Given the description of an element on the screen output the (x, y) to click on. 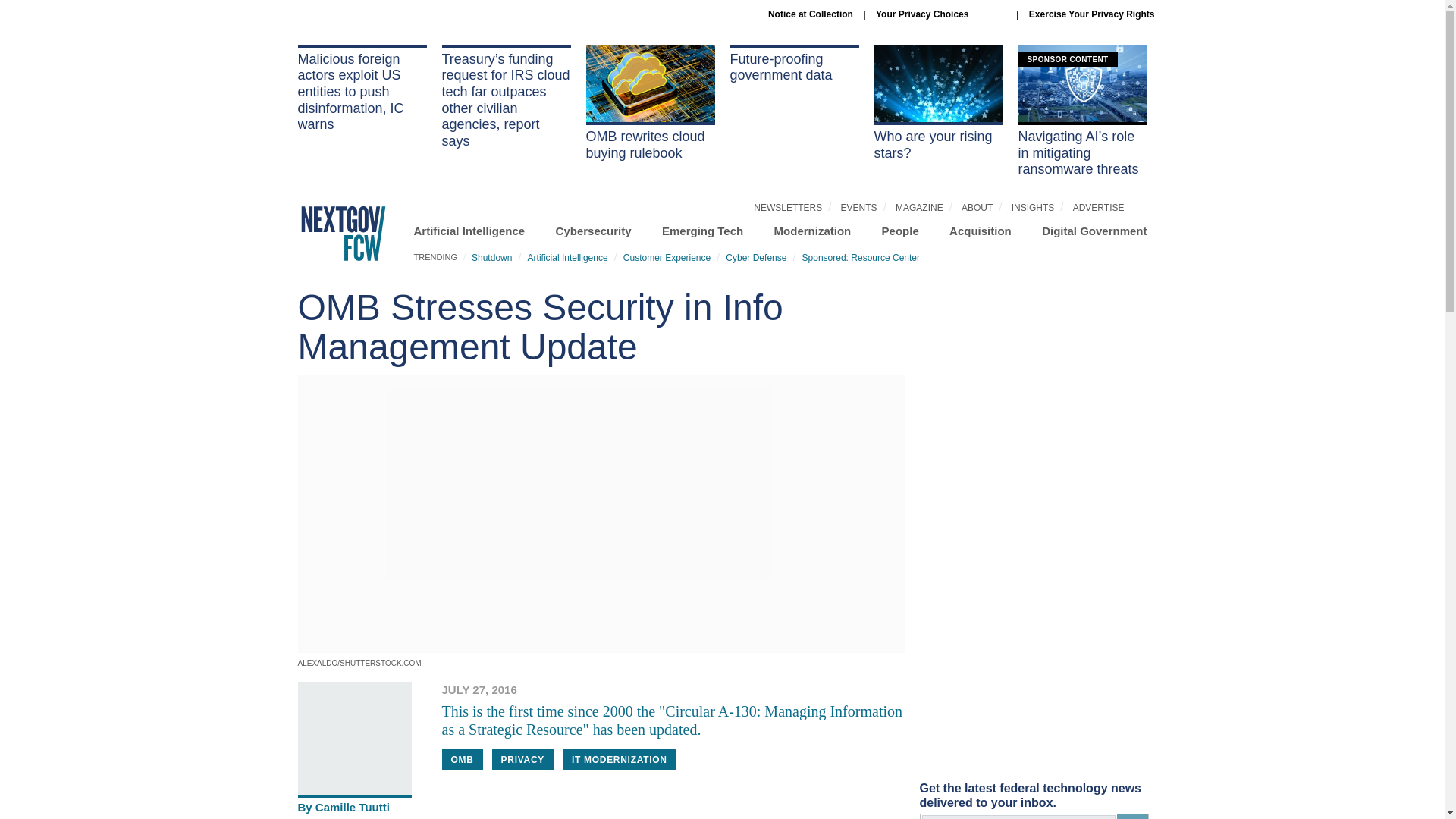
Acquisition (980, 230)
Digital Government (1094, 230)
OMB rewrites cloud buying rulebook (649, 103)
Cyber Defense (755, 257)
Modernization (812, 230)
Your Privacy Choices (941, 14)
INSIGHTS (1032, 207)
MAGAZINE (919, 207)
Cybersecurity (593, 230)
Notice at Collection (810, 14)
Artificial Intelligence (567, 257)
Shutdown (491, 257)
Sponsored: Resource Center (861, 257)
Exercise Your Privacy Rights (1091, 14)
